Given the description of an element on the screen output the (x, y) to click on. 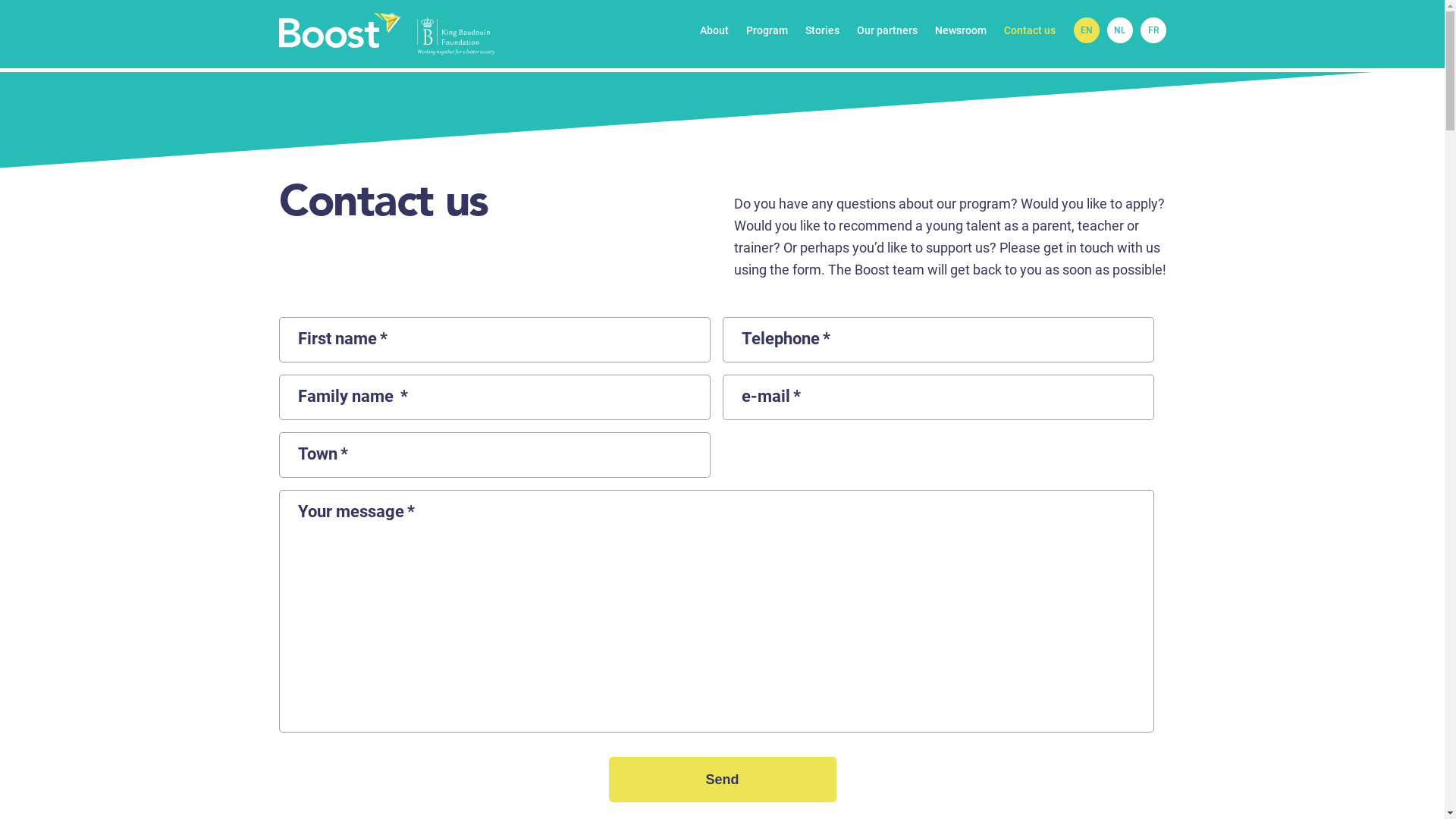
Our partners Element type: text (887, 29)
Program Element type: text (766, 29)
Stories Element type: text (822, 29)
Newsroom Element type: text (959, 29)
EN Element type: text (1086, 30)
Contact us Element type: text (1029, 29)
Send Element type: text (721, 779)
FR Element type: text (1153, 30)
NL Element type: text (1119, 30)
About Element type: text (713, 29)
